Given the description of an element on the screen output the (x, y) to click on. 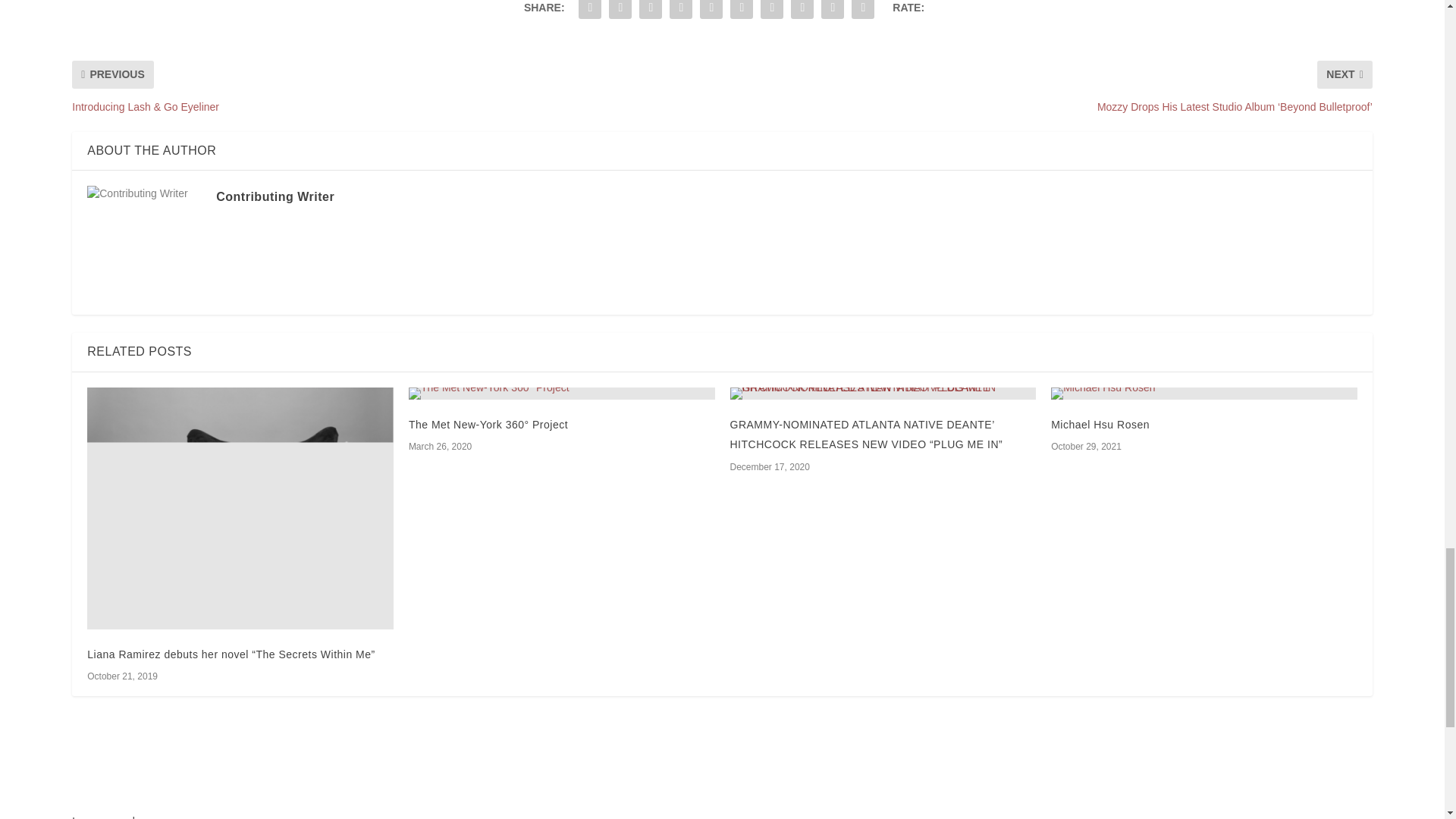
Contributing Writer (274, 196)
Michael Hsu Rosen (1100, 424)
View all posts by Contributing Writer (274, 196)
